Given the description of an element on the screen output the (x, y) to click on. 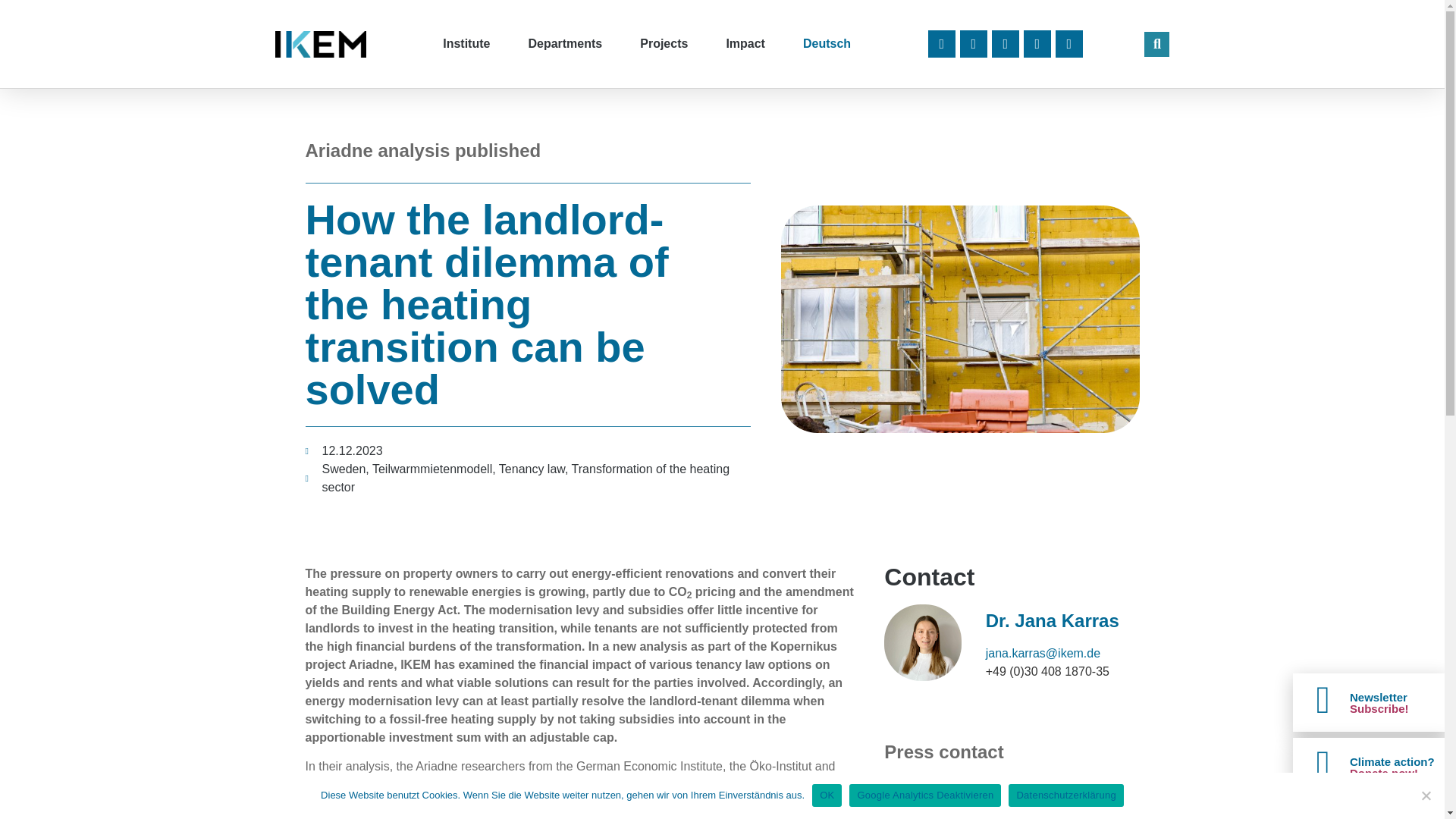
Google Analytics Deaktivieren (1425, 795)
Deutsch (826, 43)
IKEM-logo.web (320, 43)
